Given the description of an element on the screen output the (x, y) to click on. 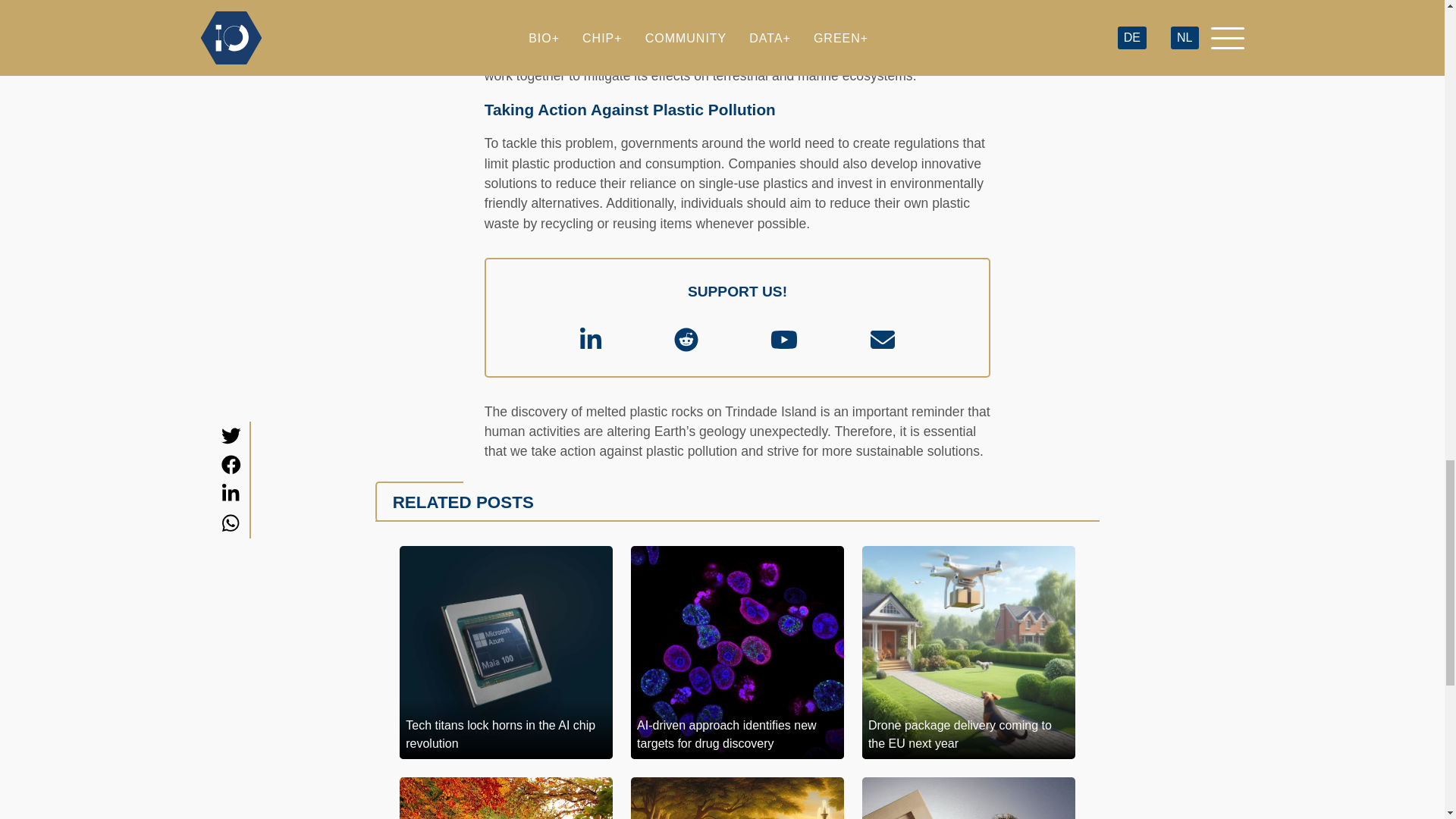
Plastic Rocks Discovered in Remote Turtle Refuge (736, 6)
Tech titans lock horns in the AI chip revolution (505, 652)
AI-driven approach identifies new targets for drug discovery (737, 652)
